Given the description of an element on the screen output the (x, y) to click on. 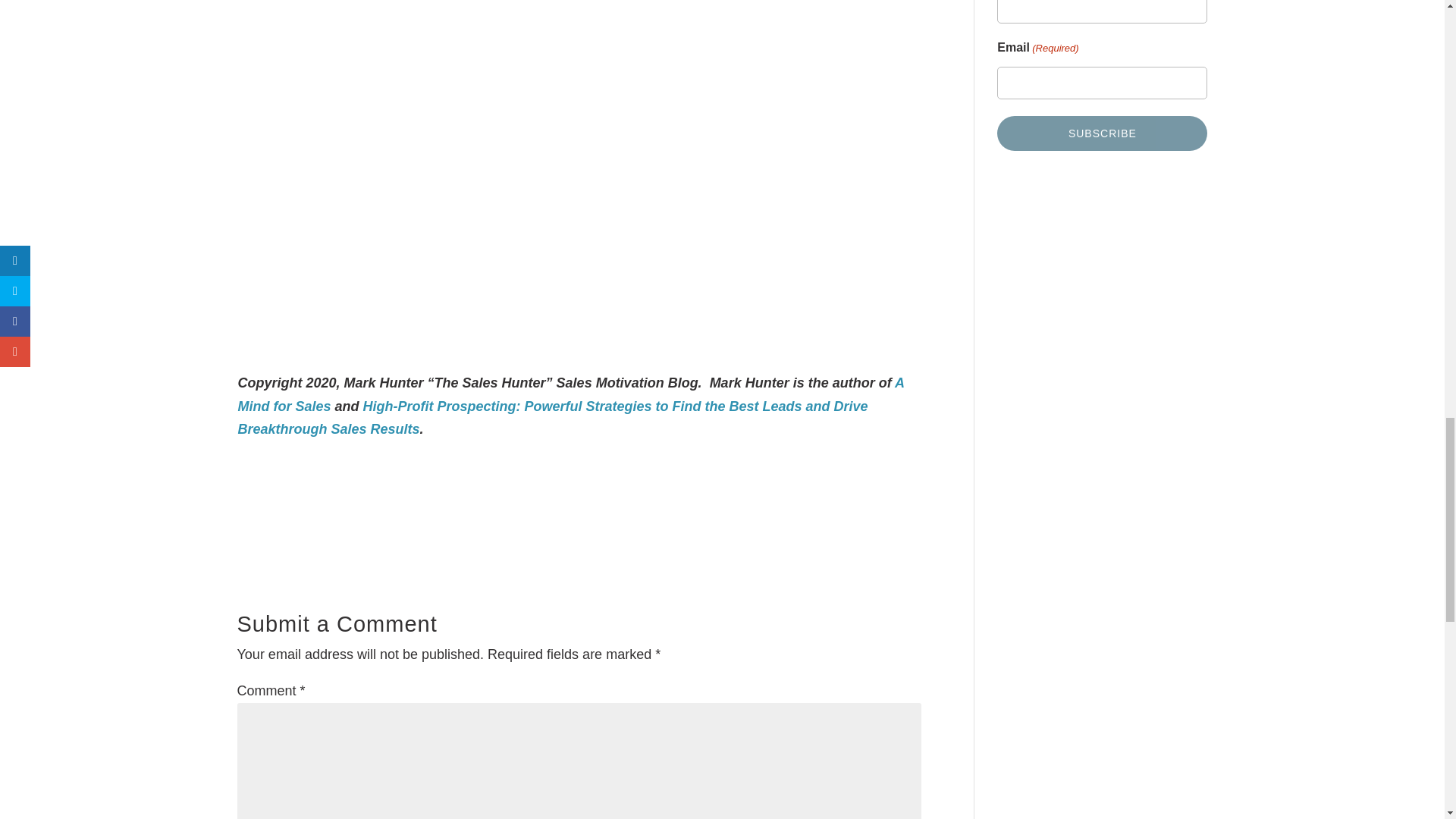
A Mind for Sales (571, 394)
SUBSCRIBE (1102, 133)
SUBSCRIBE (1102, 133)
